Given the description of an element on the screen output the (x, y) to click on. 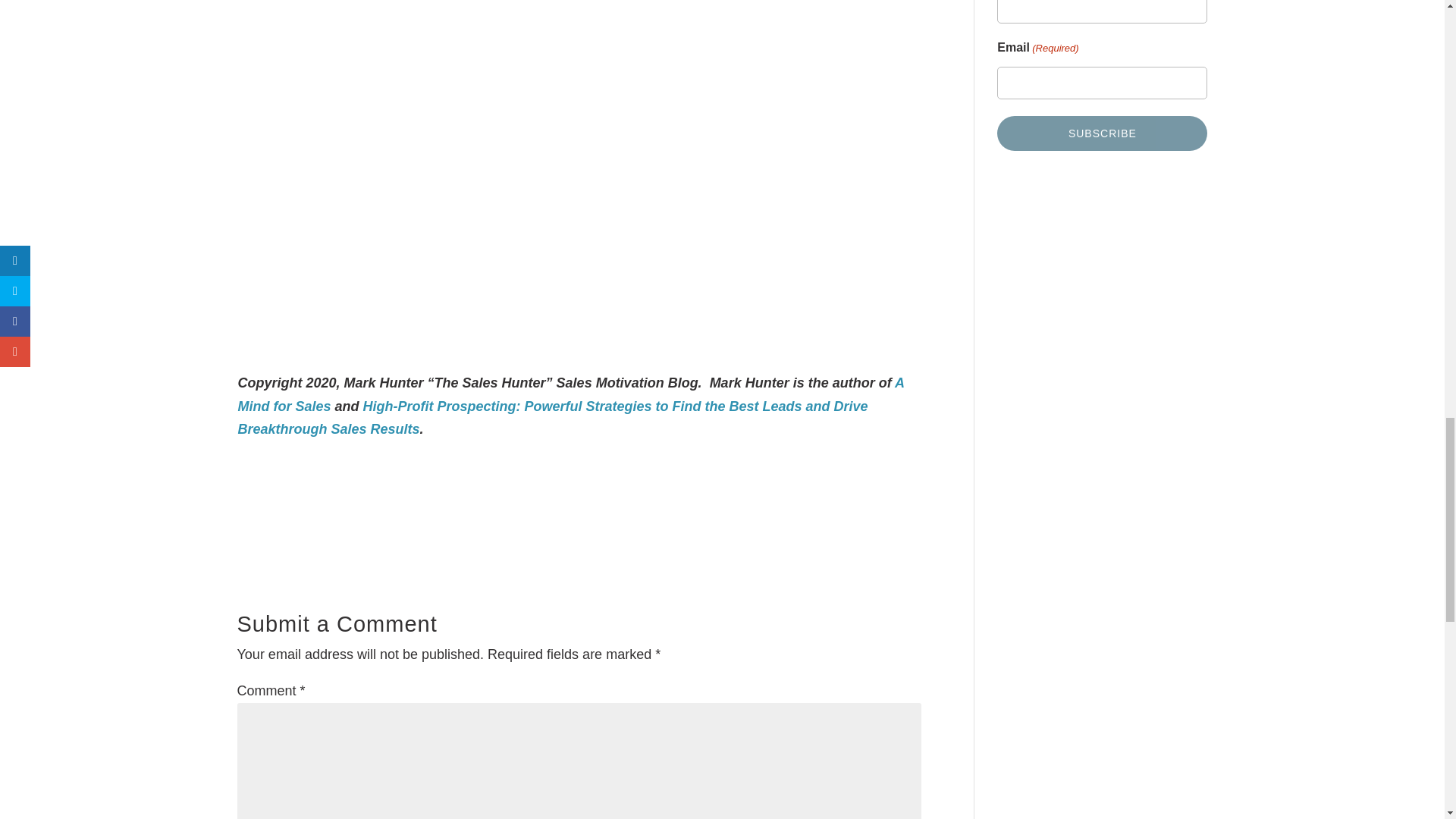
A Mind for Sales (571, 394)
SUBSCRIBE (1102, 133)
SUBSCRIBE (1102, 133)
